Given the description of an element on the screen output the (x, y) to click on. 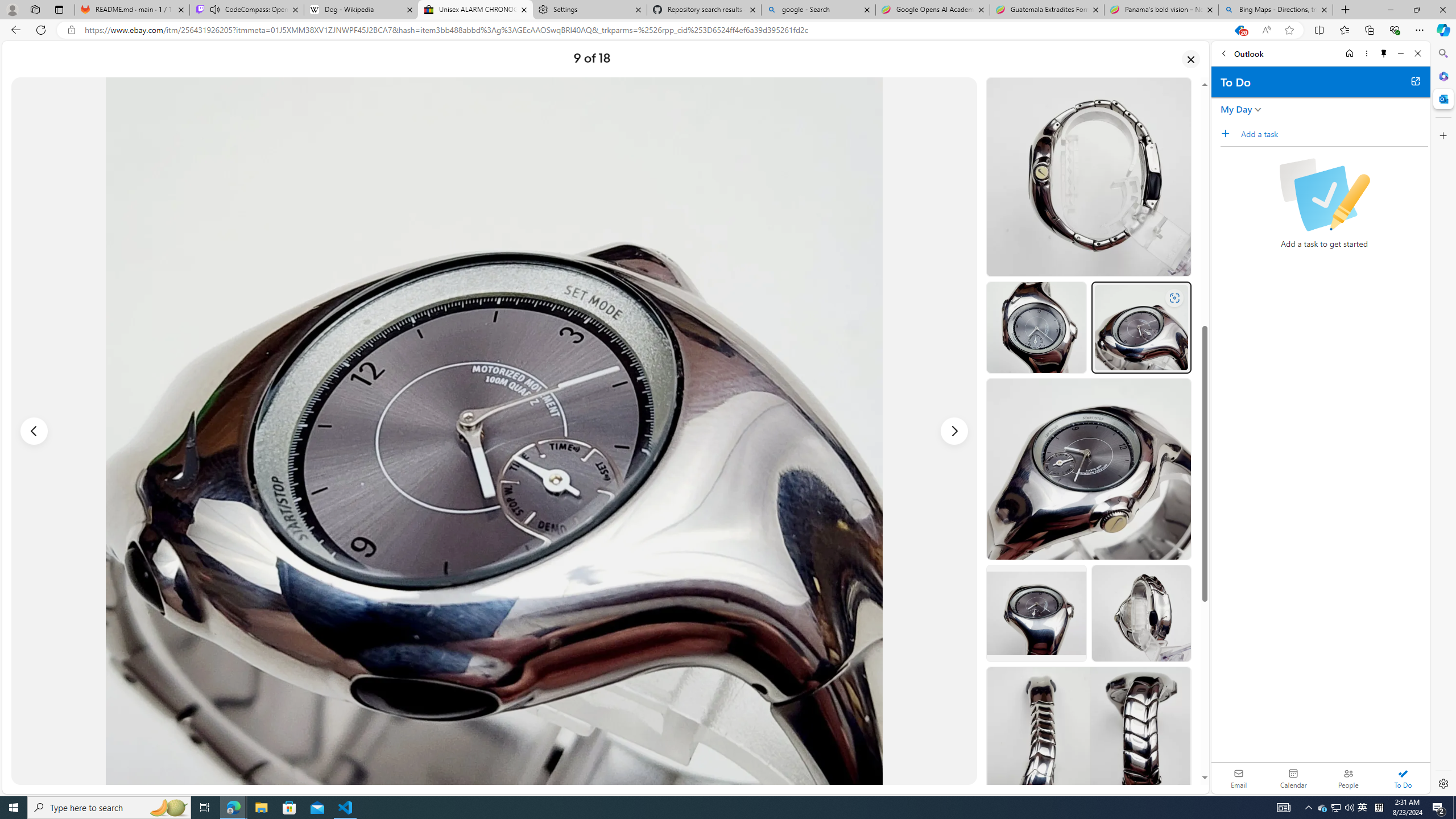
Google Opens AI Academy for Startups - Nearshore Americas (932, 9)
Dog - Wikipedia (360, 9)
Add a task (1228, 133)
